Given the description of an element on the screen output the (x, y) to click on. 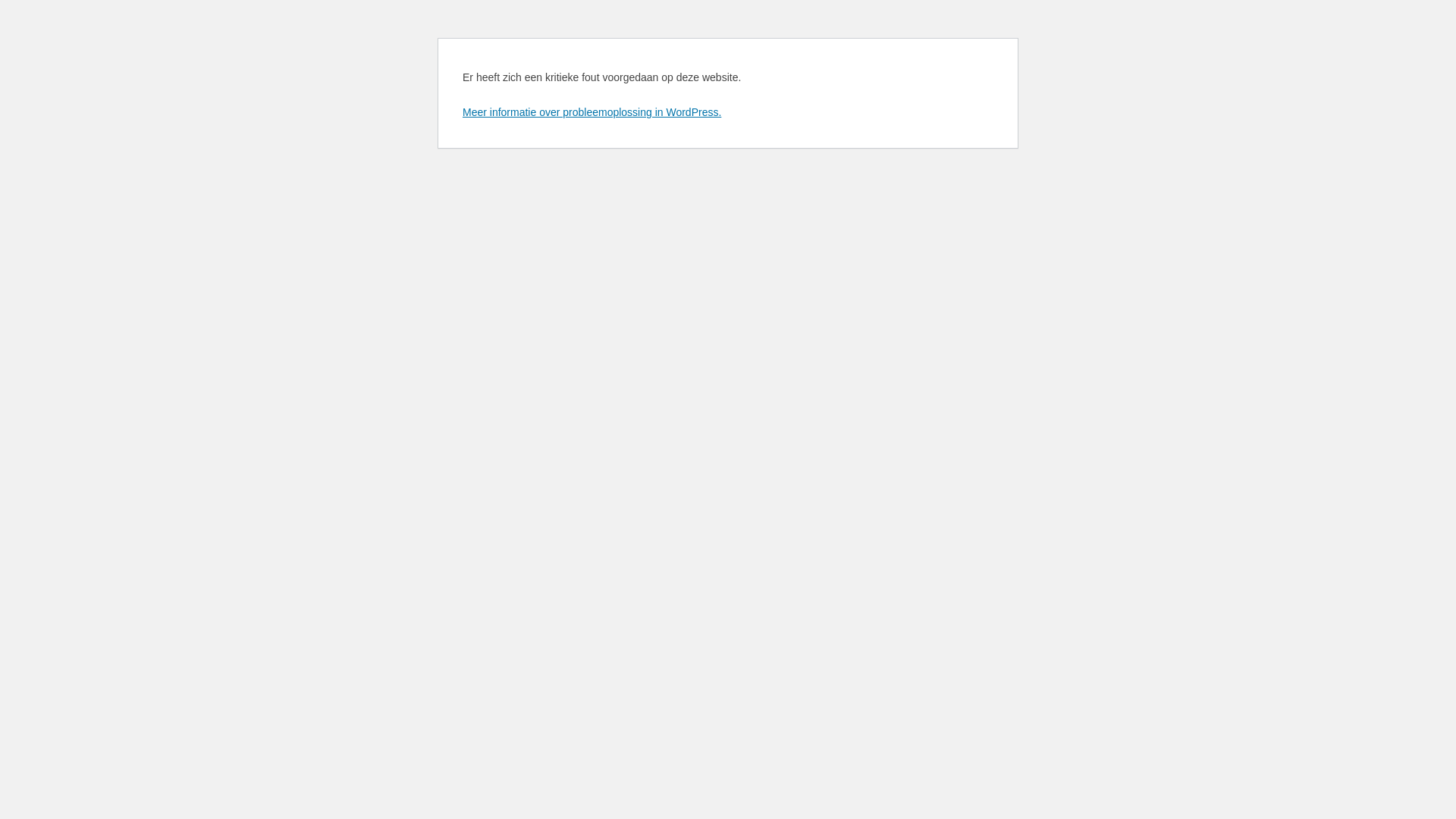
Meer informatie over probleemoplossing in WordPress. Element type: text (591, 112)
